Given the description of an element on the screen output the (x, y) to click on. 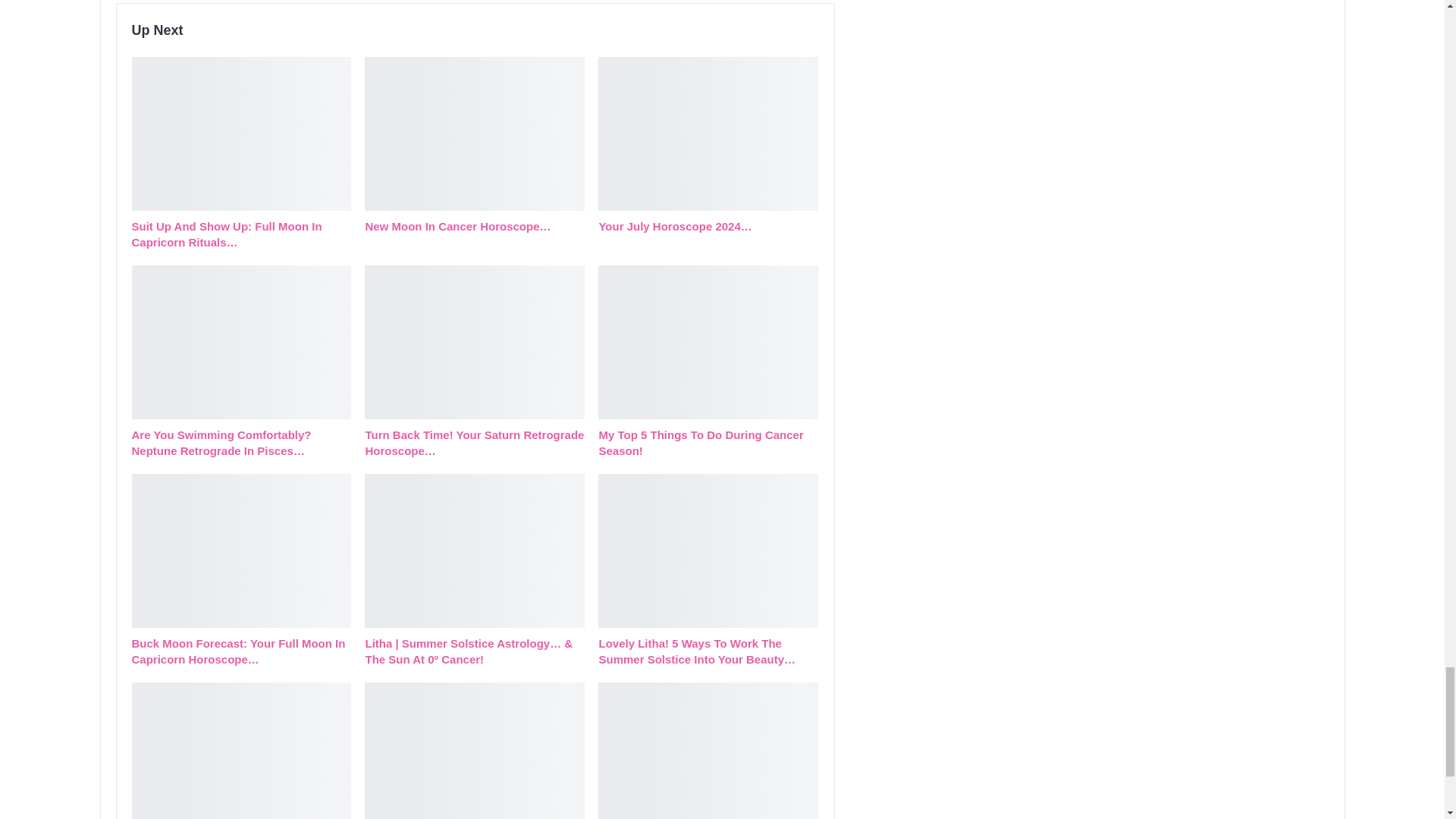
My Top 5 Things To Do During Cancer Season! (708, 342)
